Given the description of an element on the screen output the (x, y) to click on. 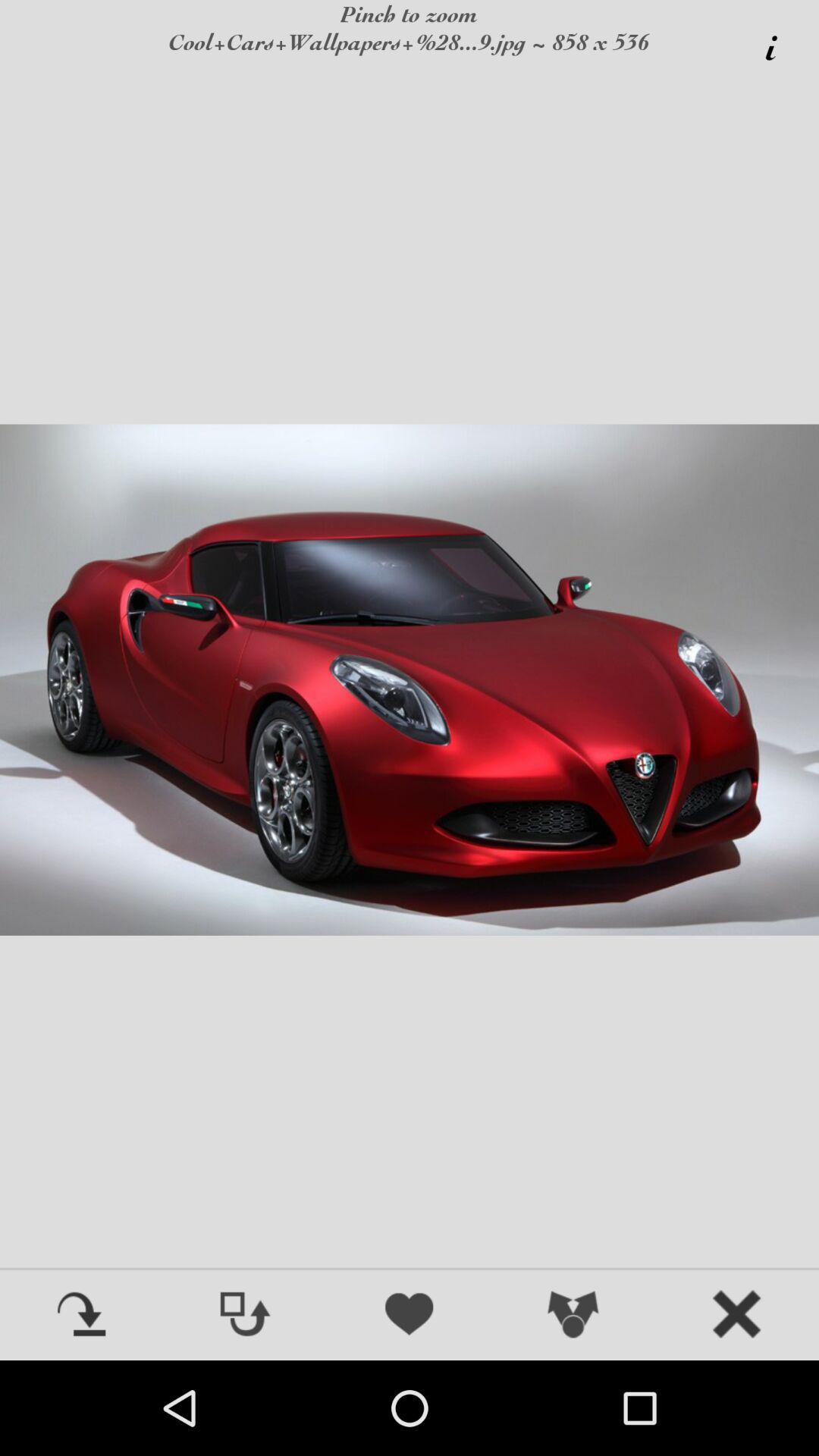
like the item (409, 1315)
